Given the description of an element on the screen output the (x, y) to click on. 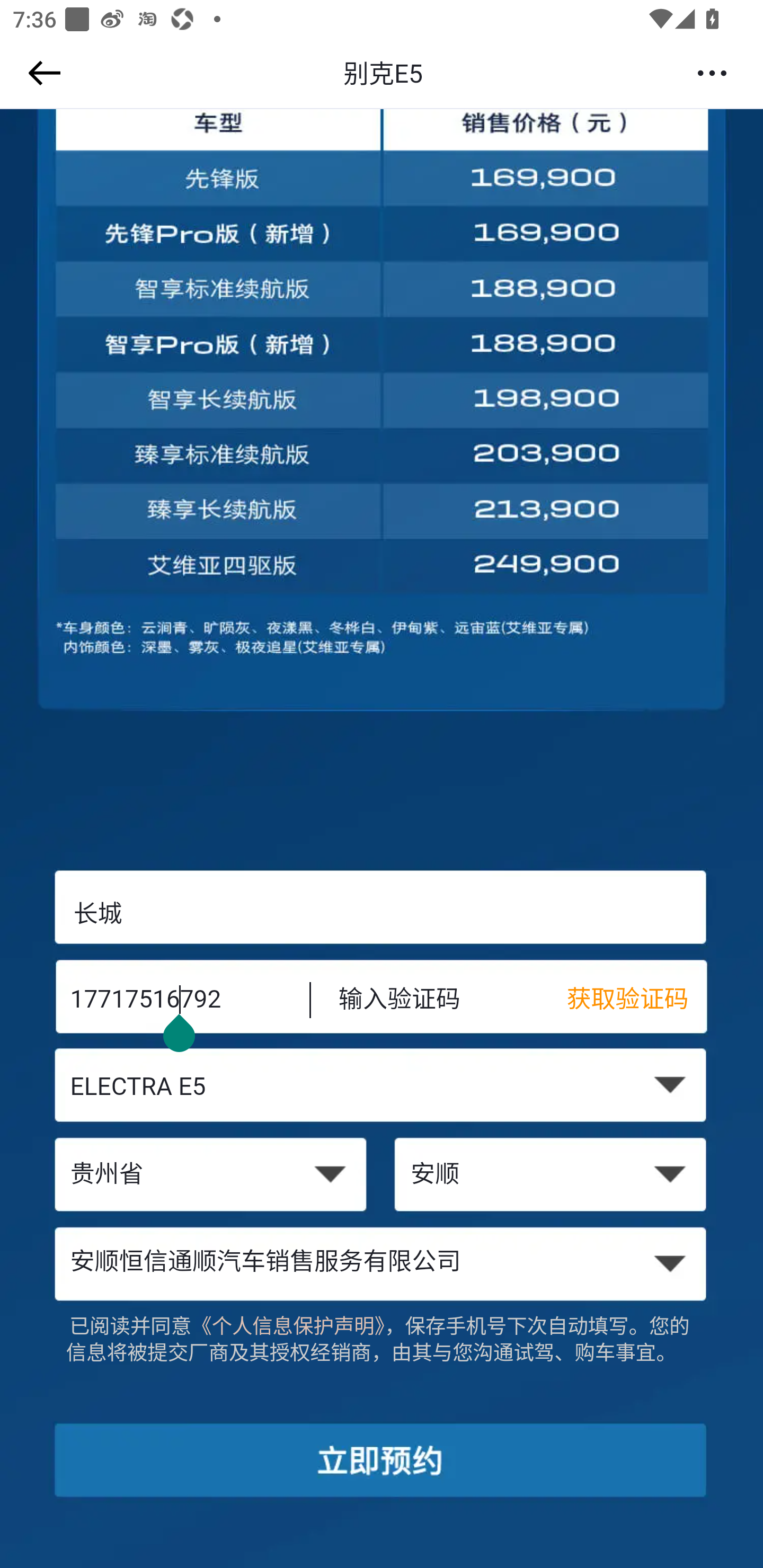
 (41, 72)
长城 (381, 912)
17717516792 (176, 1001)
获取验证码 (637, 1001)
ELECTRA E5 (381, 1088)
贵州省 (210, 1175)
安顺 (552, 1175)
安顺恒信通顺汽车销售服务有限公司 (381, 1262)
